Given the description of an element on the screen output the (x, y) to click on. 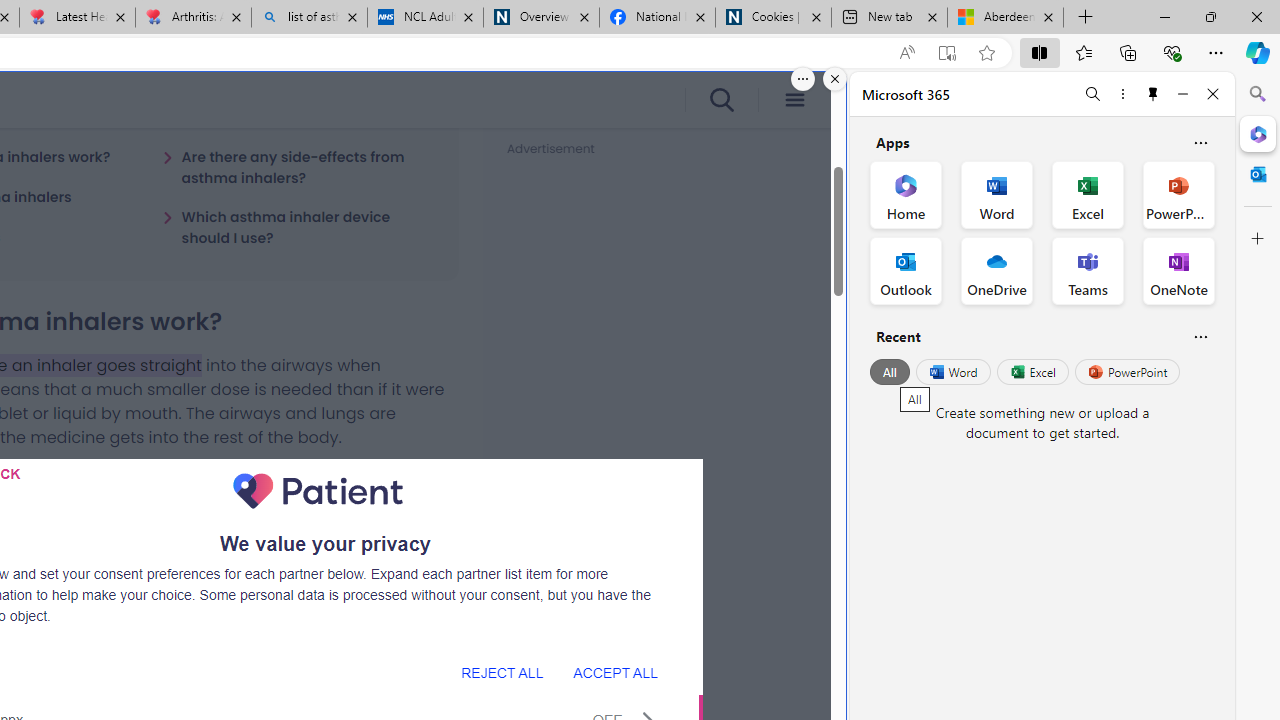
Outlook Office App (906, 270)
search (720, 99)
OneDrive Office App (996, 270)
Teams Office App (1087, 270)
ACCEPT ALL (615, 672)
REJECT ALL (502, 672)
NCL Adult Asthma Inhaler Choice Guideline (424, 17)
Arthritis: Ask Health Professionals (192, 17)
PowerPoint (1127, 372)
Close Customize pane (1258, 239)
